Given the description of an element on the screen output the (x, y) to click on. 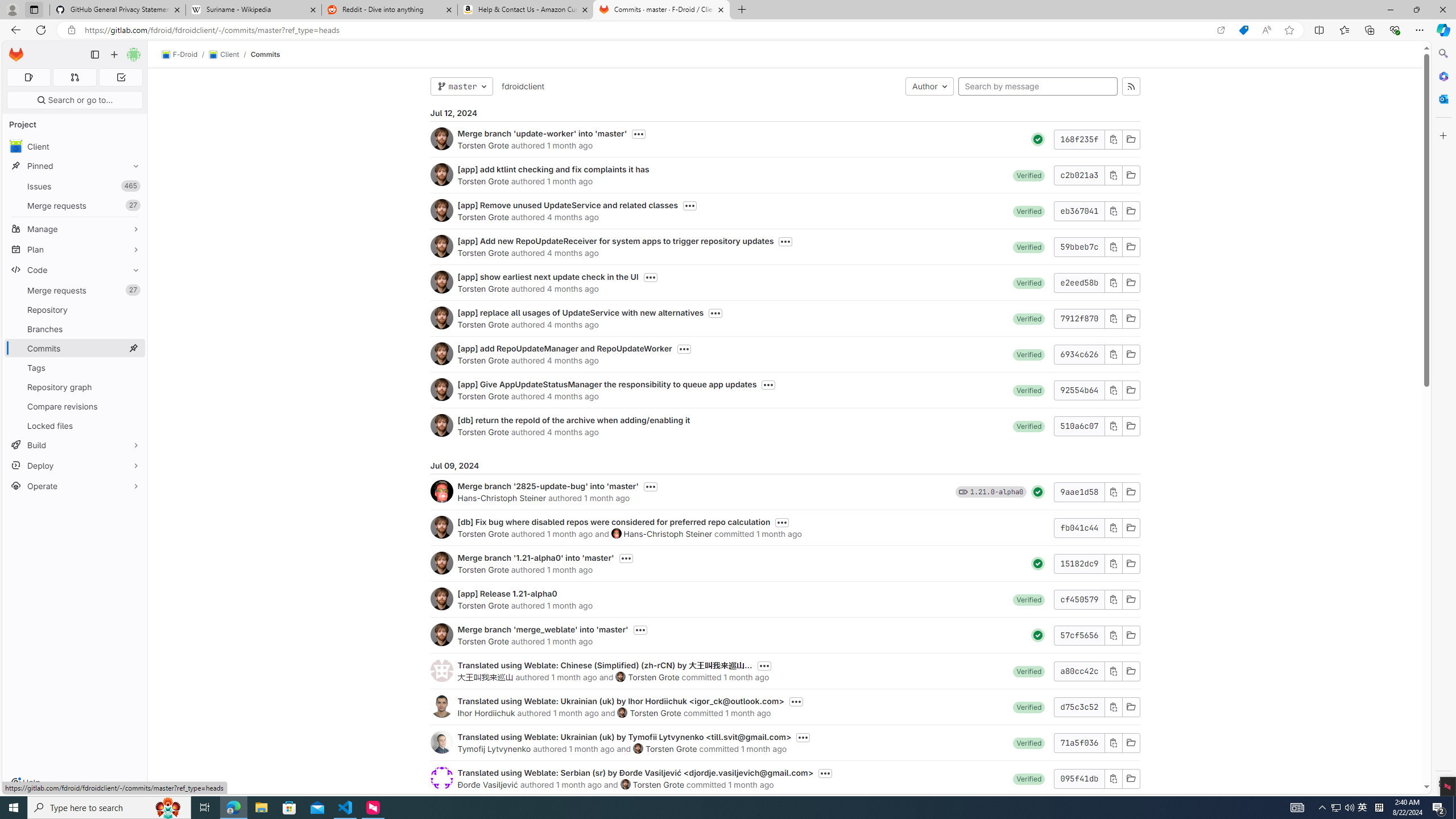
Client/ (229, 54)
Torsten Grote's avatar (625, 783)
Repository (74, 309)
Assigned issues 0 (28, 76)
Commits (265, 53)
Class: s16 gl-icon gl-button-icon  (1113, 777)
Primary navigation sidebar (94, 54)
Pinned (74, 165)
